Given the description of an element on the screen output the (x, y) to click on. 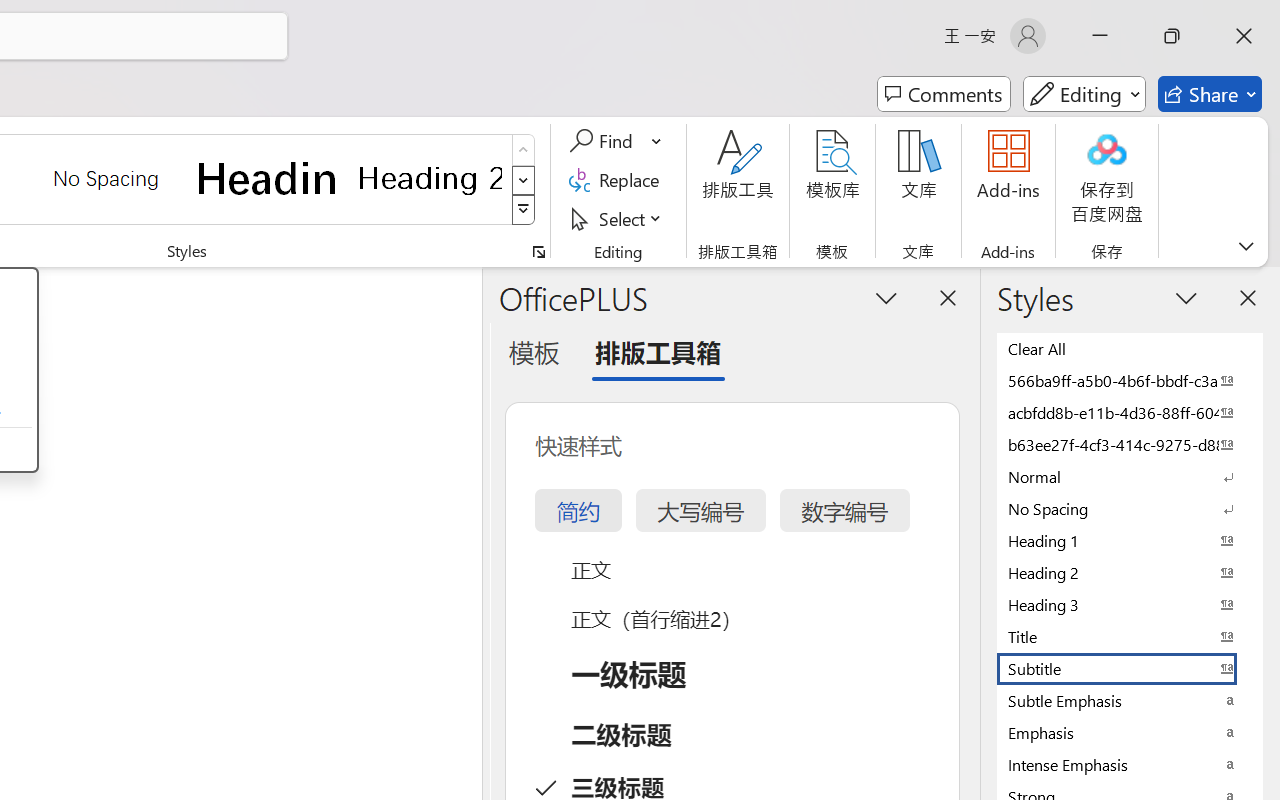
Styles (523, 209)
Restore Down (1172, 36)
Heading 1 (267, 178)
Clear All (1130, 348)
Title (1130, 636)
Emphasis (1130, 732)
Row Down (523, 180)
Intense Emphasis (1130, 764)
Replace... (617, 179)
Styles... (538, 252)
